Given the description of an element on the screen output the (x, y) to click on. 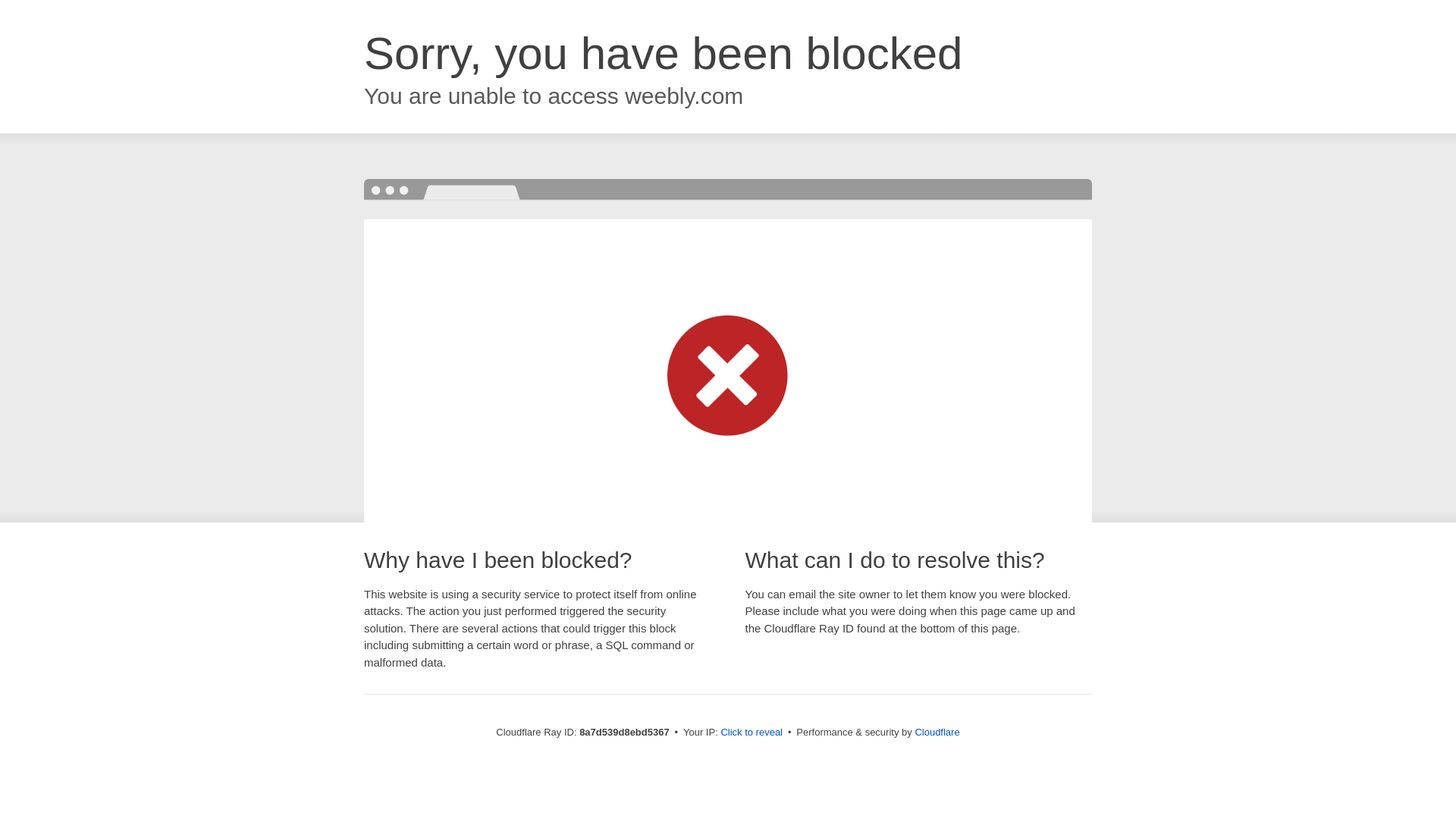
Click to reveal (751, 732)
Cloudflare (936, 731)
